Given the description of an element on the screen output the (x, y) to click on. 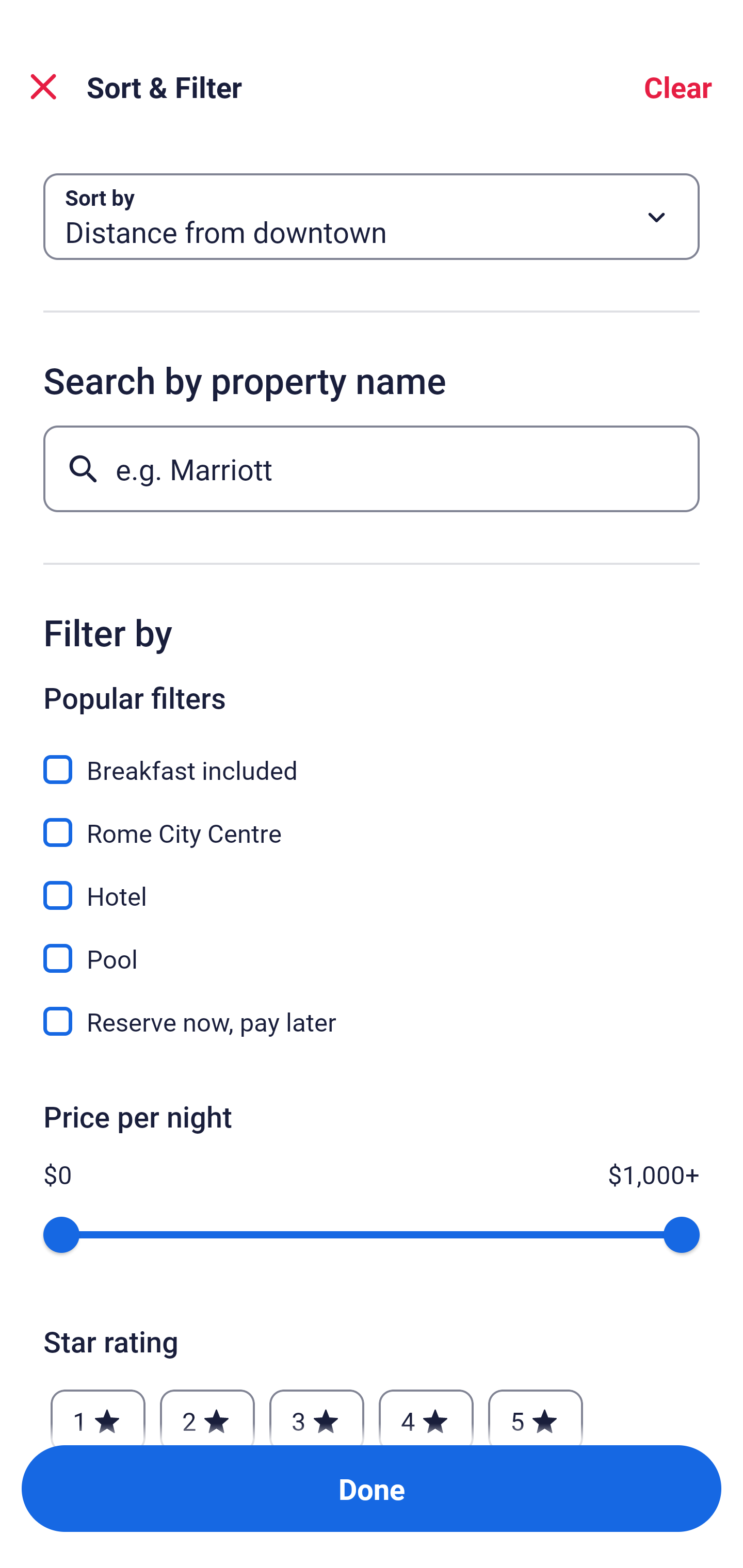
Close Sort and Filter (43, 86)
Clear (677, 86)
Sort by Button Distance from downtown (371, 217)
e.g. Marriott Button (371, 468)
Breakfast included, Breakfast included (371, 757)
Rome City Centre, Rome City Centre (371, 821)
Hotel, Hotel (371, 883)
Pool, Pool (371, 946)
Reserve now, pay later, Reserve now, pay later (371, 1021)
1 (97, 1411)
2 (206, 1411)
3 (316, 1411)
4 (426, 1411)
5 (535, 1411)
Apply and close Sort and Filter Done (371, 1488)
